Given the description of an element on the screen output the (x, y) to click on. 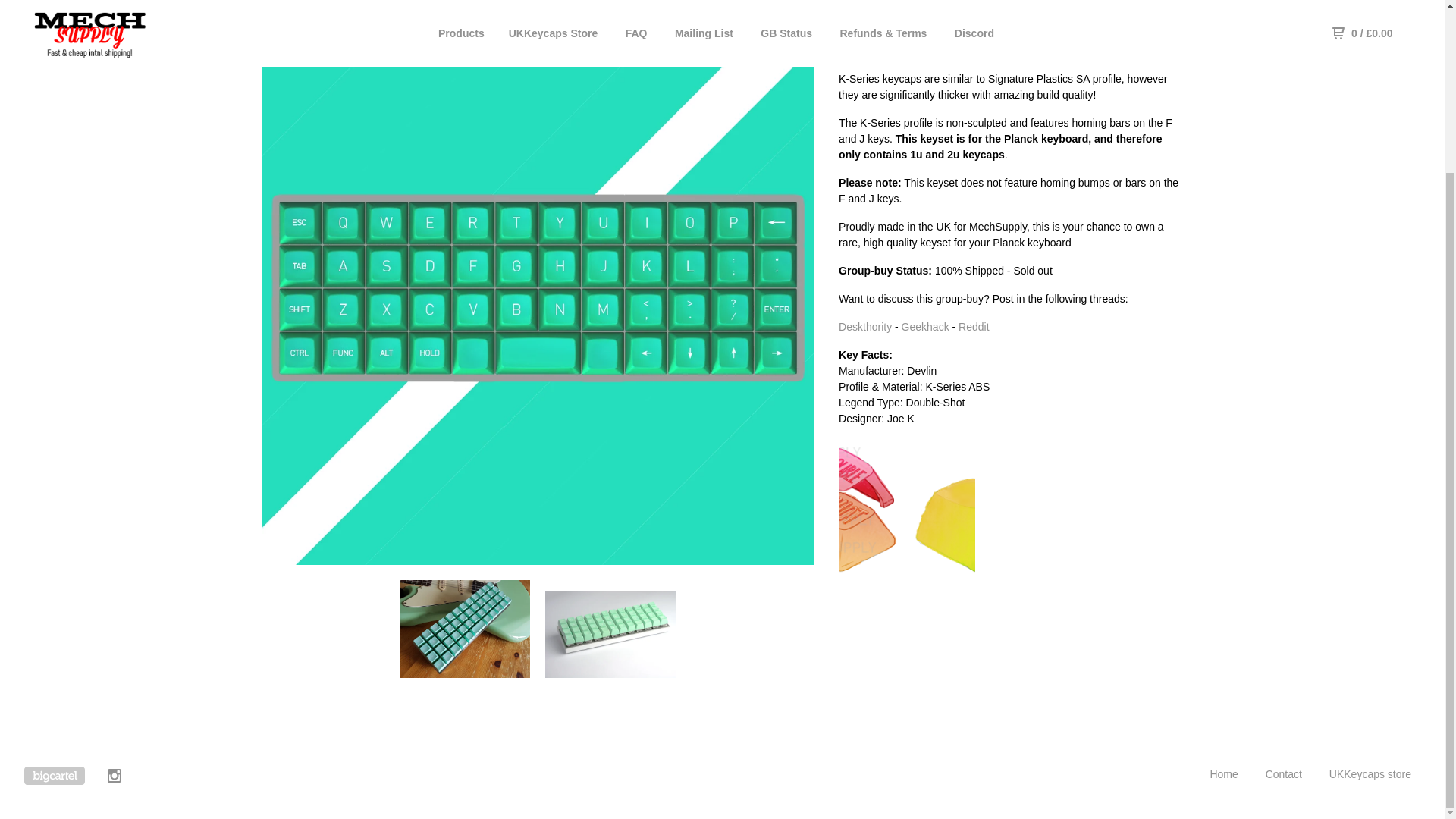
Contact (1283, 774)
Follow us on Instagram (115, 778)
UKKeycaps store (1369, 774)
MechSupply (1223, 774)
Reddit (973, 326)
Powered by Big Cartel (54, 775)
Deskthority (864, 326)
Contact (1283, 774)
Geekhack (925, 326)
Home (1223, 774)
